Given the description of an element on the screen output the (x, y) to click on. 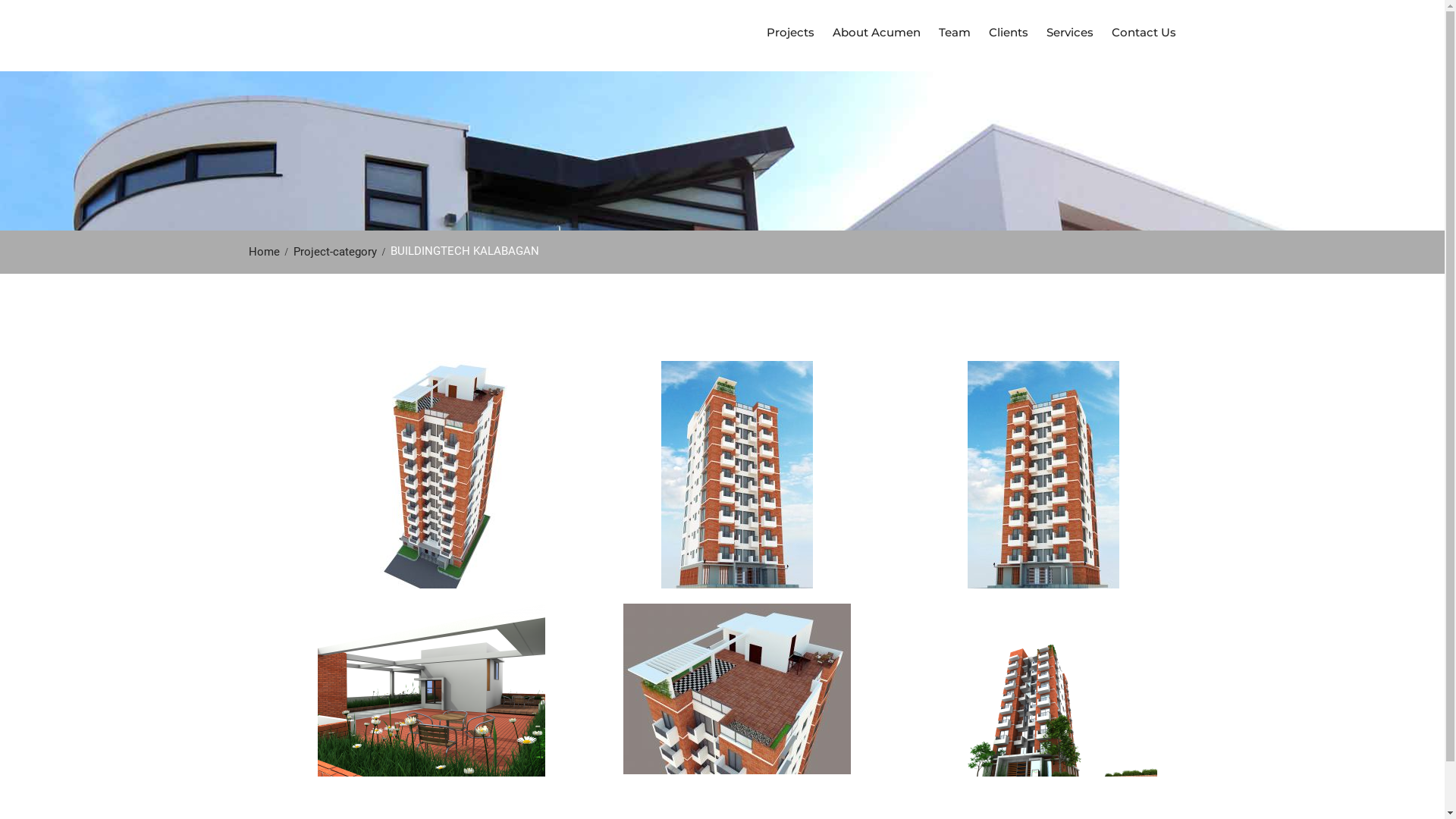
Projects Element type: text (789, 32)
Home Element type: text (268, 251)
Team Element type: text (954, 32)
Clients Element type: text (1008, 32)
Project-category Element type: text (339, 251)
Services Element type: text (1069, 32)
About Acumen Element type: text (876, 32)
Contact Us Element type: text (1143, 32)
